Given the description of an element on the screen output the (x, y) to click on. 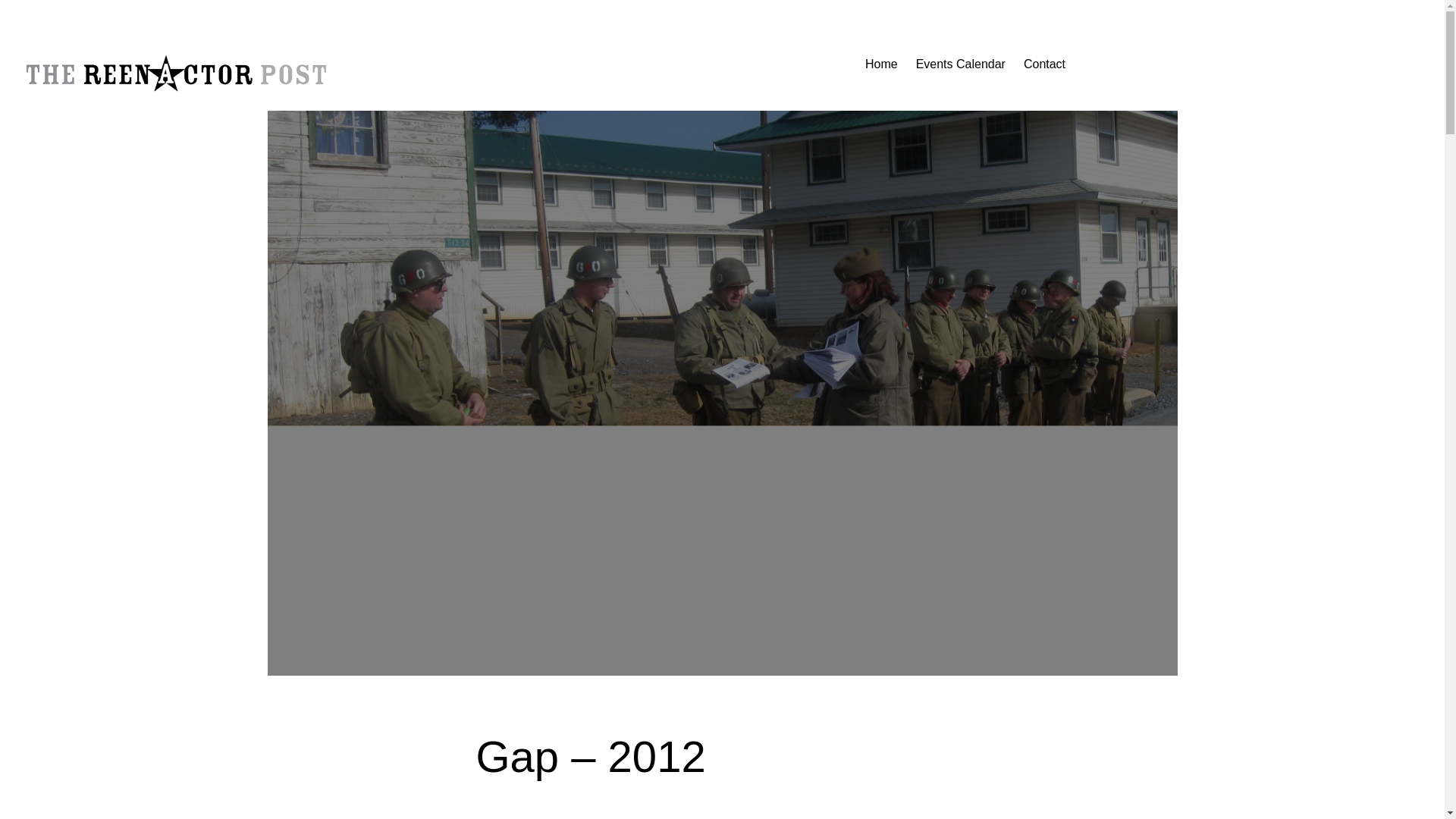
Home (881, 64)
Events Calendar (960, 64)
Contact (1044, 64)
